Given the description of an element on the screen output the (x, y) to click on. 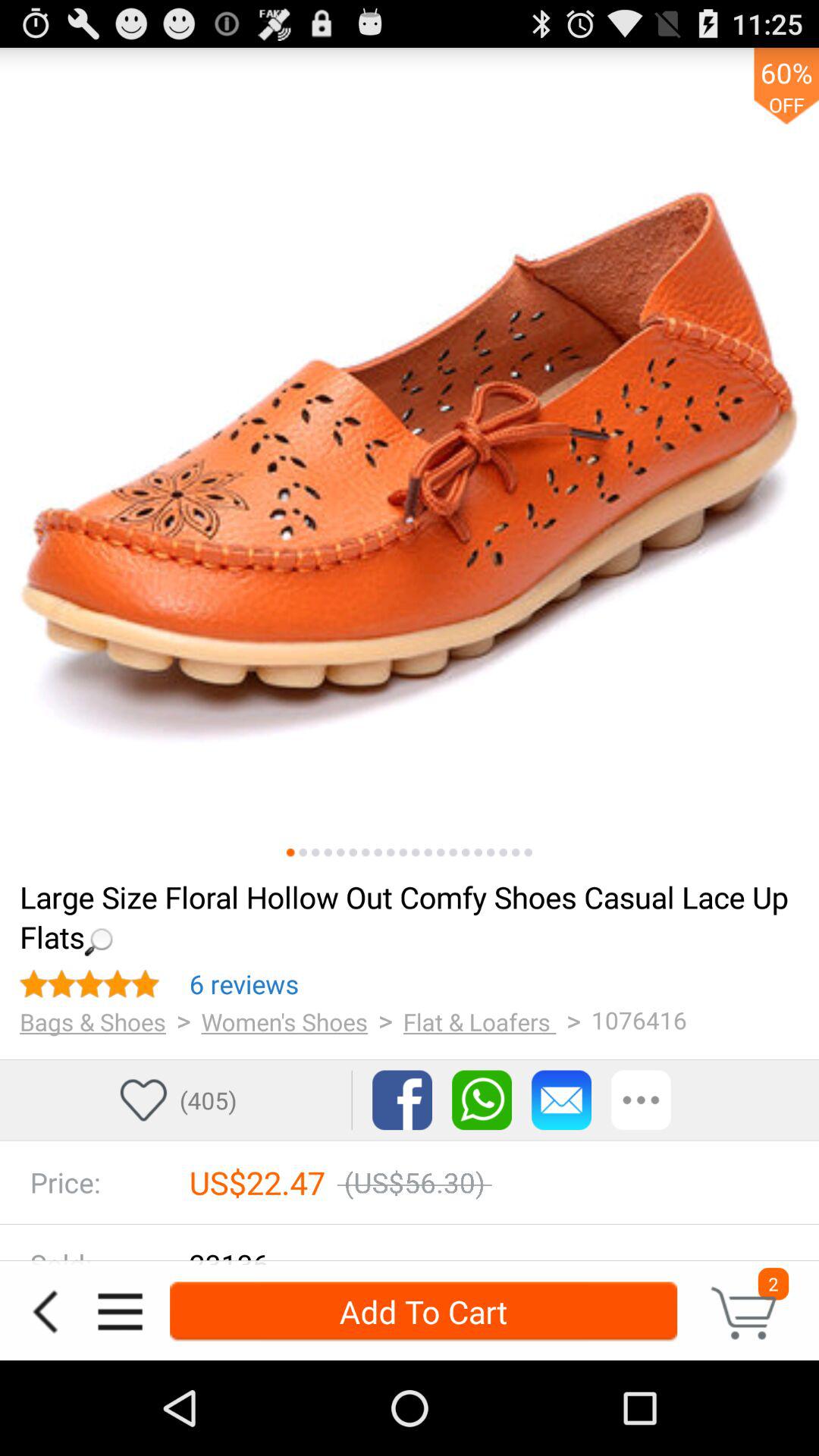
picture (378, 852)
